Given the description of an element on the screen output the (x, y) to click on. 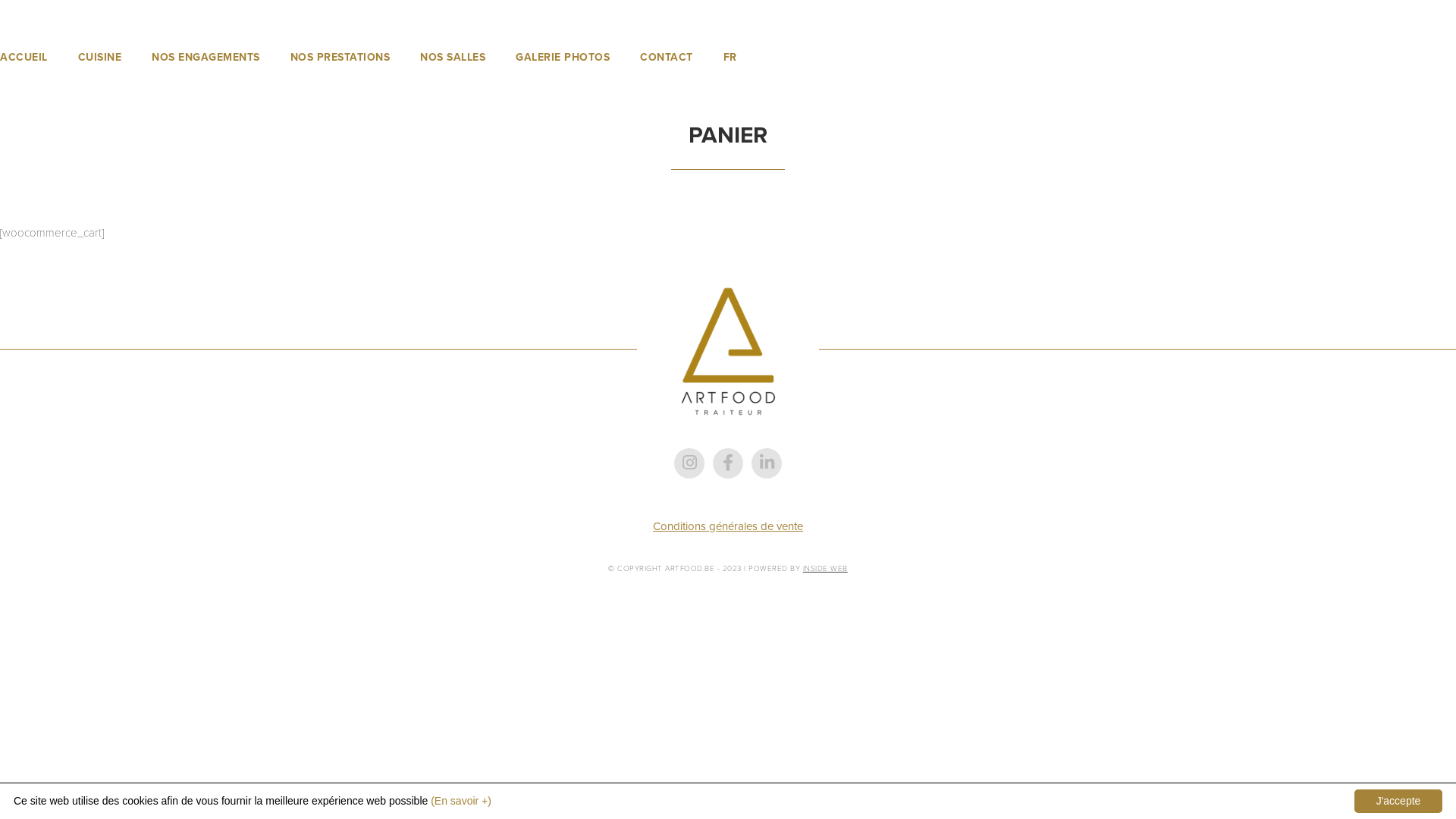
NOS ENGAGEMENTS Element type: text (205, 57)
GALERIE PHOTOS Element type: text (562, 57)
NOS PRESTATIONS Element type: text (339, 57)
CUISINE Element type: text (99, 57)
FR Element type: text (730, 57)
ACCUEIL Element type: text (23, 57)
NOS SALLES Element type: text (452, 57)
INSIDE WEB Element type: text (825, 568)
CONTACT Element type: text (666, 57)
(En savoir +) Element type: text (460, 800)
